Given the description of an element on the screen output the (x, y) to click on. 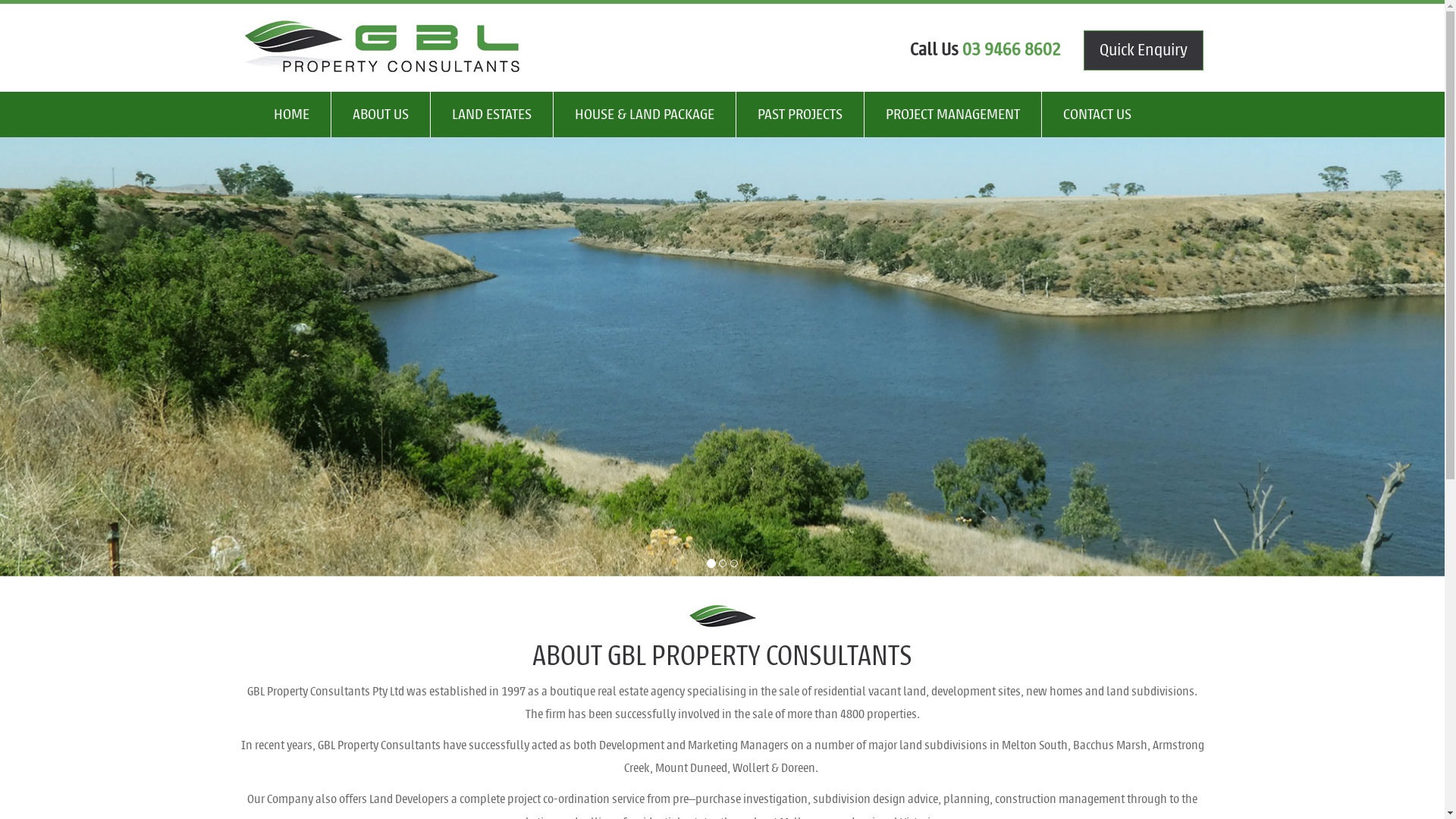
HOME Element type: text (290, 114)
HOUSE & LAND PACKAGE Element type: text (644, 114)
03 9466 8602 Element type: text (1011, 48)
PAST PROJECTS Element type: text (799, 114)
PROJECT MANAGEMENT Element type: text (952, 114)
Quick Enquiry Element type: text (1143, 50)
LAND ESTATES Element type: text (491, 114)
CONTACT US Element type: text (1096, 114)
ABOUT US Element type: text (379, 114)
